Given the description of an element on the screen output the (x, y) to click on. 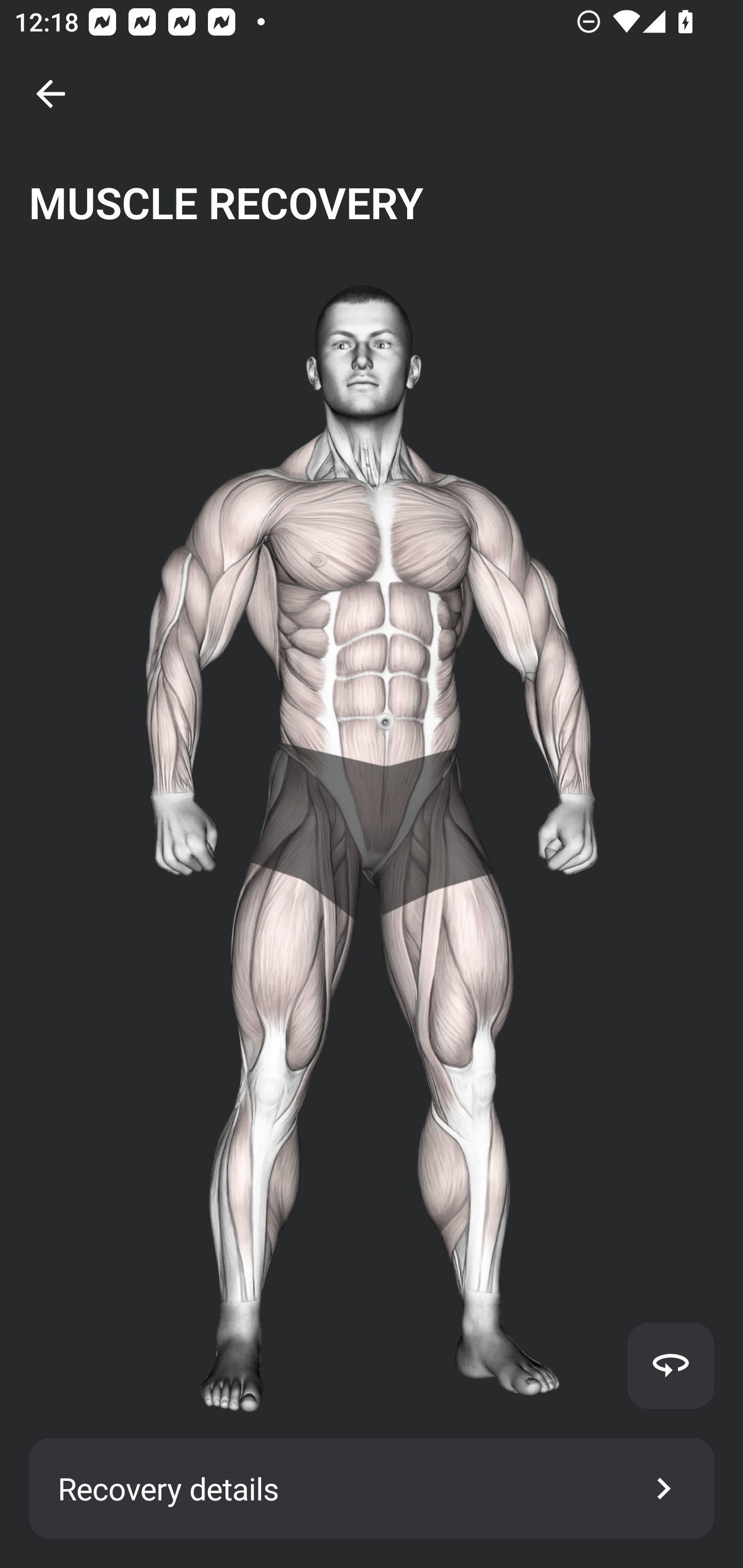
Back Icon (50, 93)
Turn icon (670, 1365)
Recovery details Next icon (371, 1488)
